Given the description of an element on the screen output the (x, y) to click on. 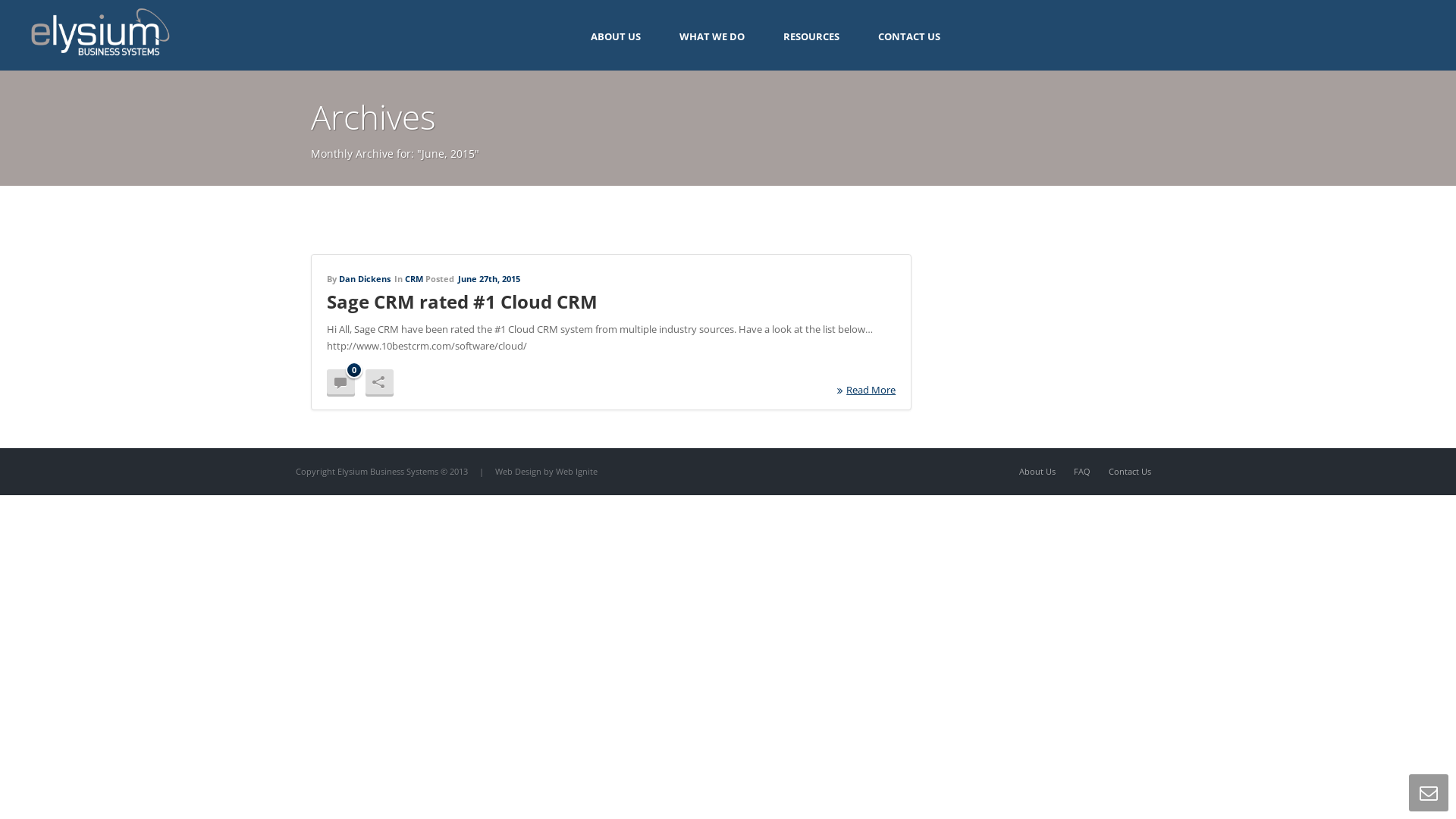
Web Ignite Element type: text (576, 470)
0 Element type: text (340, 381)
ABOUT US Element type: text (615, 35)
FAQ Element type: text (1081, 471)
June 27th, 2015 Element type: text (489, 278)
CRM Element type: text (413, 278)
Read More Element type: text (866, 389)
WHAT WE DO Element type: text (711, 35)
Elysium Business Systems Element type: hover (98, 35)
RESOURCES Element type: text (811, 35)
Web Design Element type: text (518, 470)
About Us Element type: text (1037, 471)
CONTACT US Element type: text (909, 35)
Sage CRM rated #1 Cloud CRM Element type: text (461, 300)
Dan Dickens Element type: text (364, 278)
Contact Us Element type: text (1129, 471)
